Given the description of an element on the screen output the (x, y) to click on. 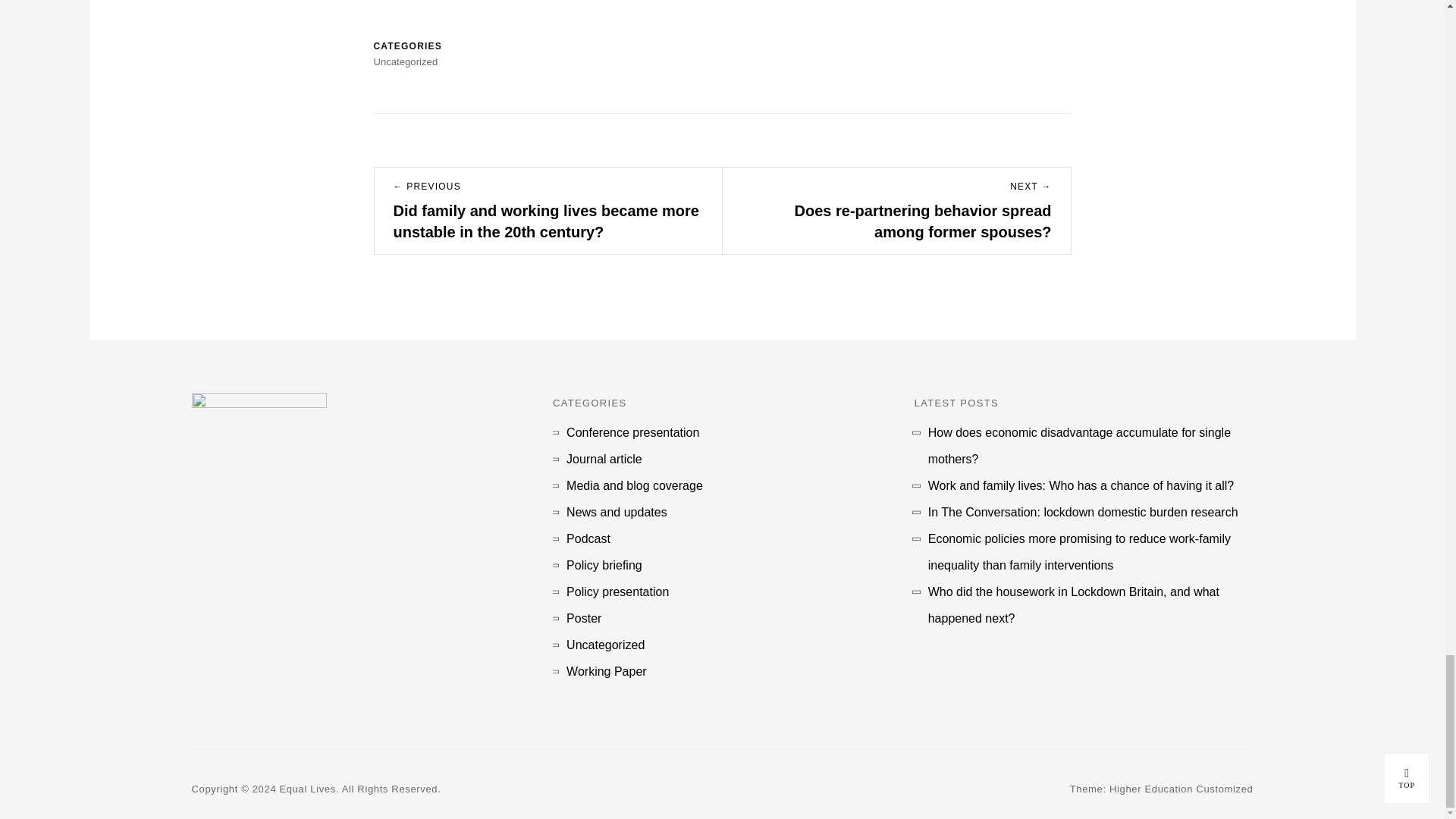
Uncategorized (605, 644)
Journal article (604, 458)
Podcast (588, 538)
In The Conversation: lockdown domestic burden research (1083, 512)
Equal Lives (307, 788)
Media and blog coverage (634, 485)
Work and family lives: Who has a chance of having it all? (1080, 485)
Working Paper (606, 671)
Poster (583, 618)
Policy presentation (617, 591)
Higher Education Customized (1181, 788)
Policy briefing (604, 565)
